Given the description of an element on the screen output the (x, y) to click on. 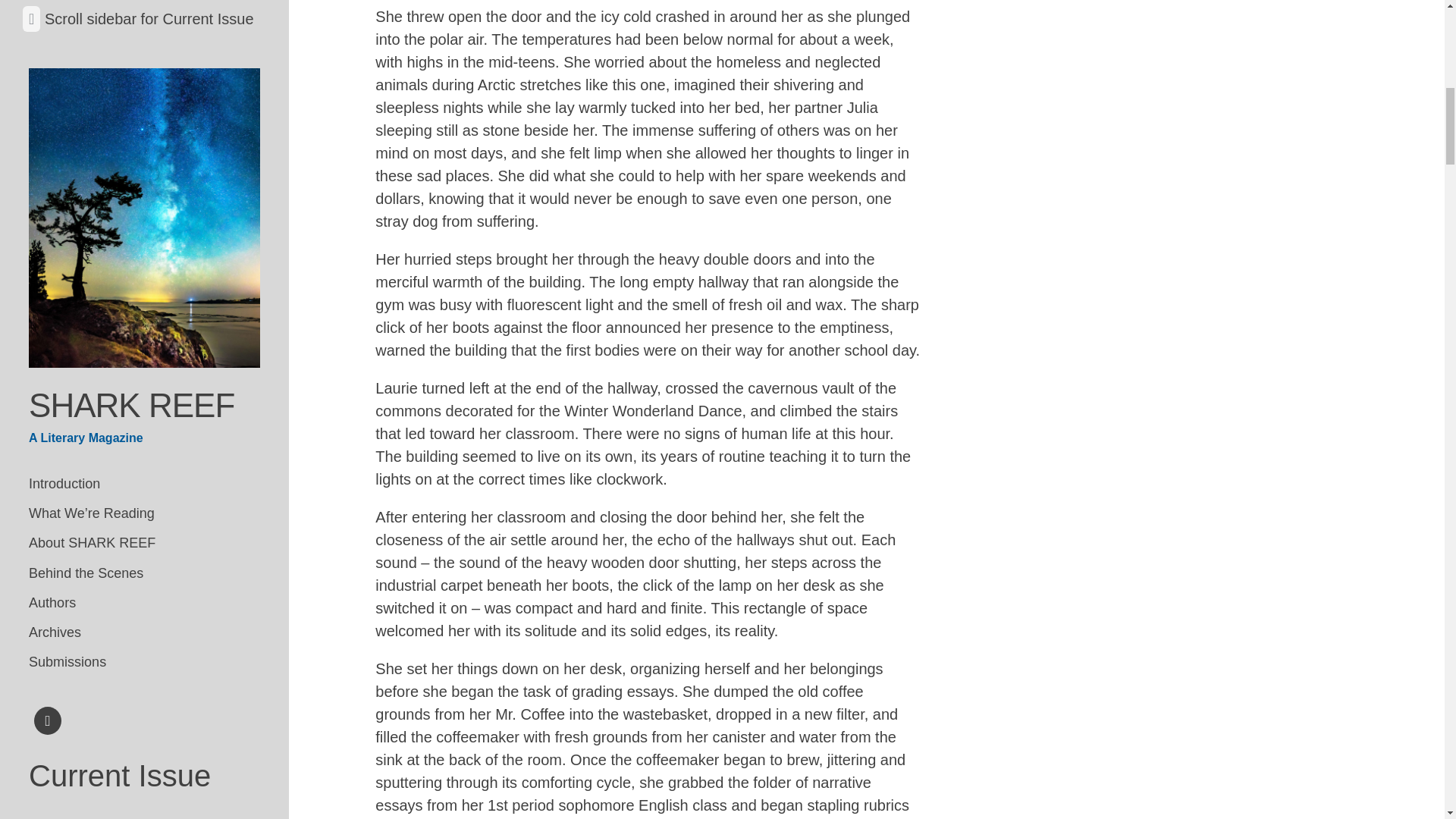
Muse (43, 275)
Posts by Gayle Kaune (186, 527)
Posts by Linda Conroy (64, 445)
Posts by Gayle Kaune (139, 582)
Gayle Kaune (186, 527)
One Morning (64, 472)
Posts by Gayle Kaune (179, 554)
Posts by Richard Widerkehr (130, 683)
At the Zoo (56, 582)
Lorna Reese (152, 141)
